Given the description of an element on the screen output the (x, y) to click on. 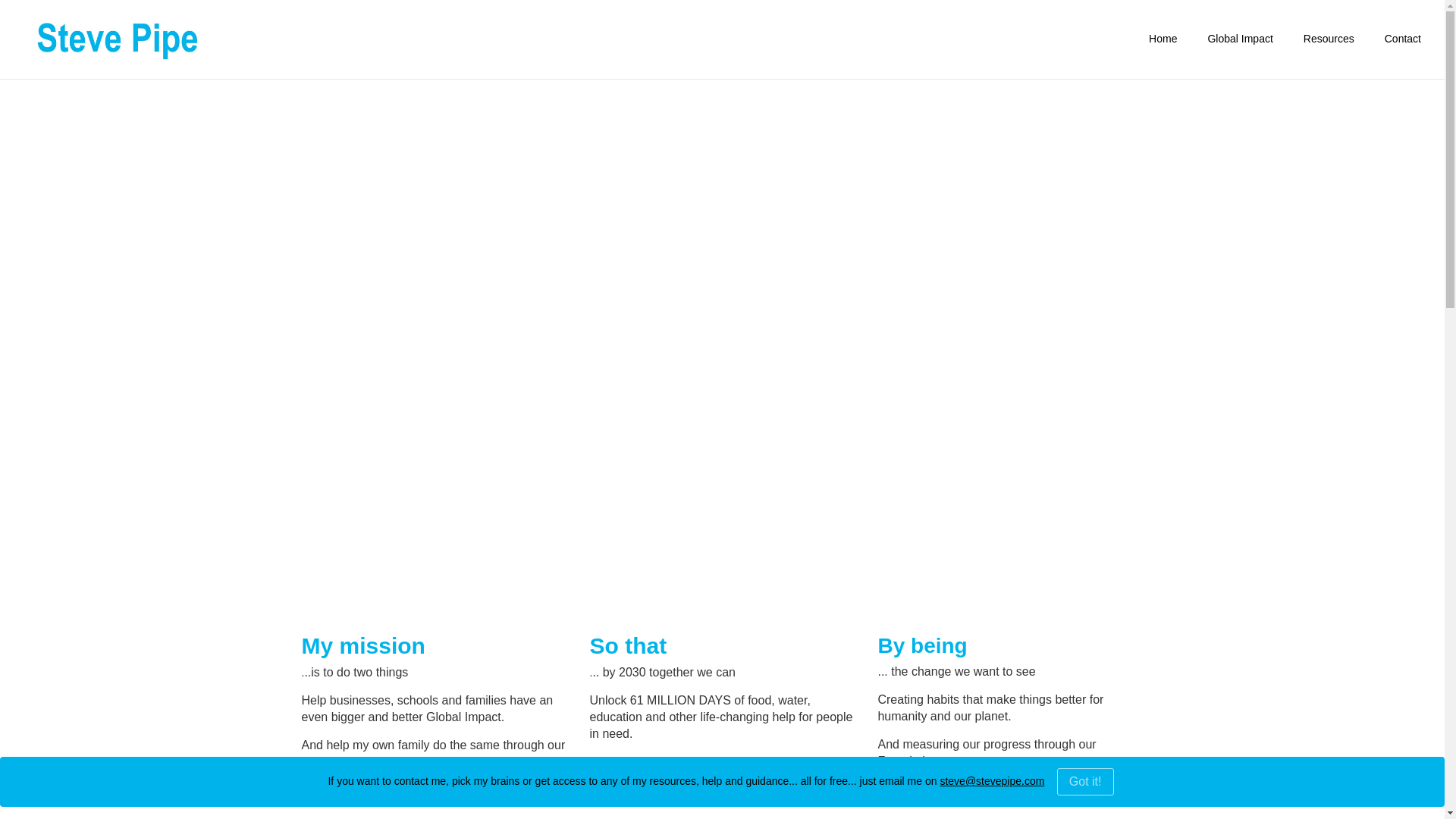
Resources (1328, 39)
Global Impact (1239, 39)
Contact (1402, 39)
Got it! (1085, 781)
Home (1162, 39)
